Given the description of an element on the screen output the (x, y) to click on. 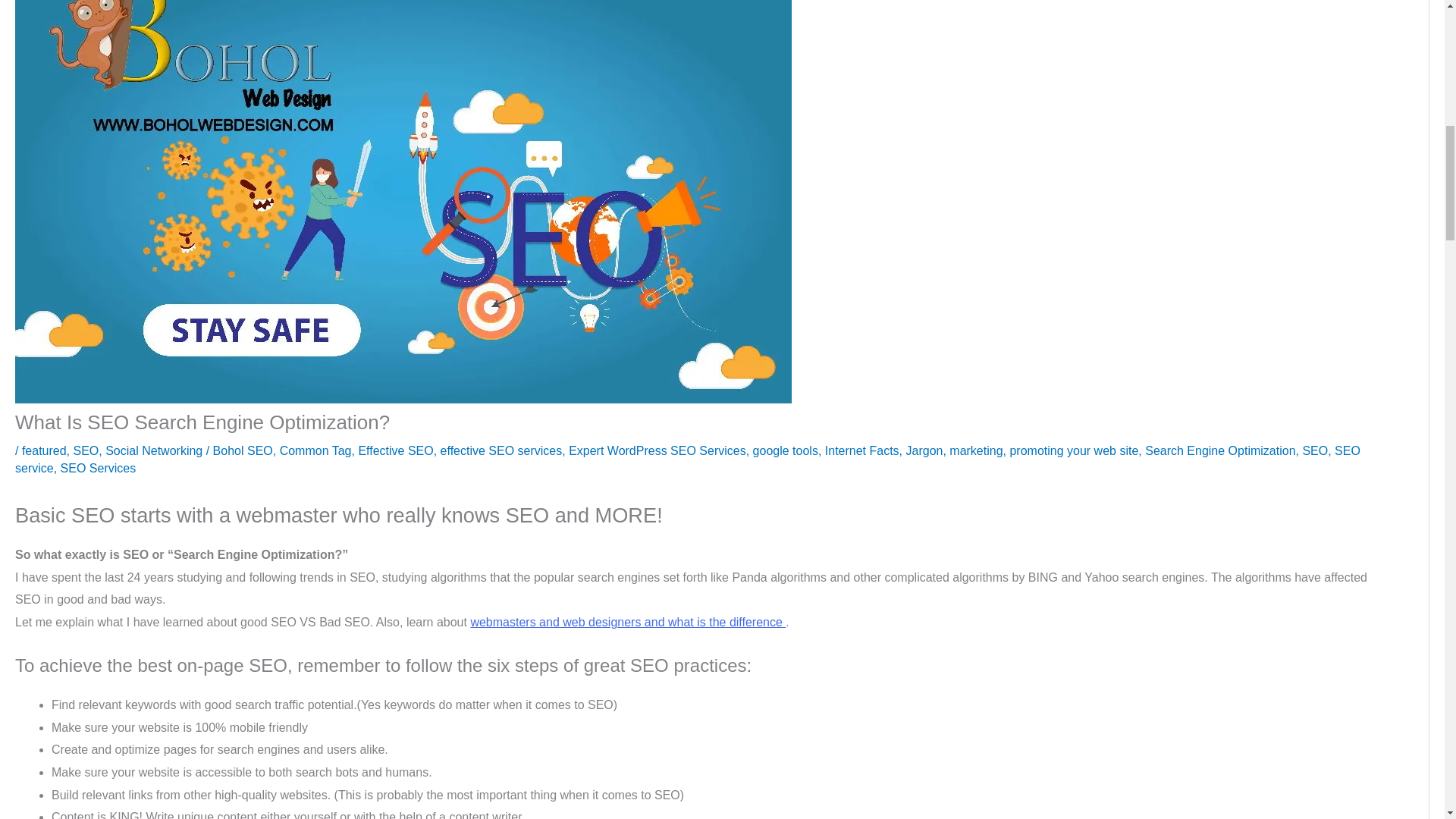
google tools (785, 450)
SEO (85, 450)
Search Engine Optimization (1219, 450)
featured (43, 450)
Internet Facts (862, 450)
Common Tag (315, 450)
Effective SEO (395, 450)
Jargon (923, 450)
Bohol SEO (242, 450)
Social Networking (153, 450)
